Given the description of an element on the screen output the (x, y) to click on. 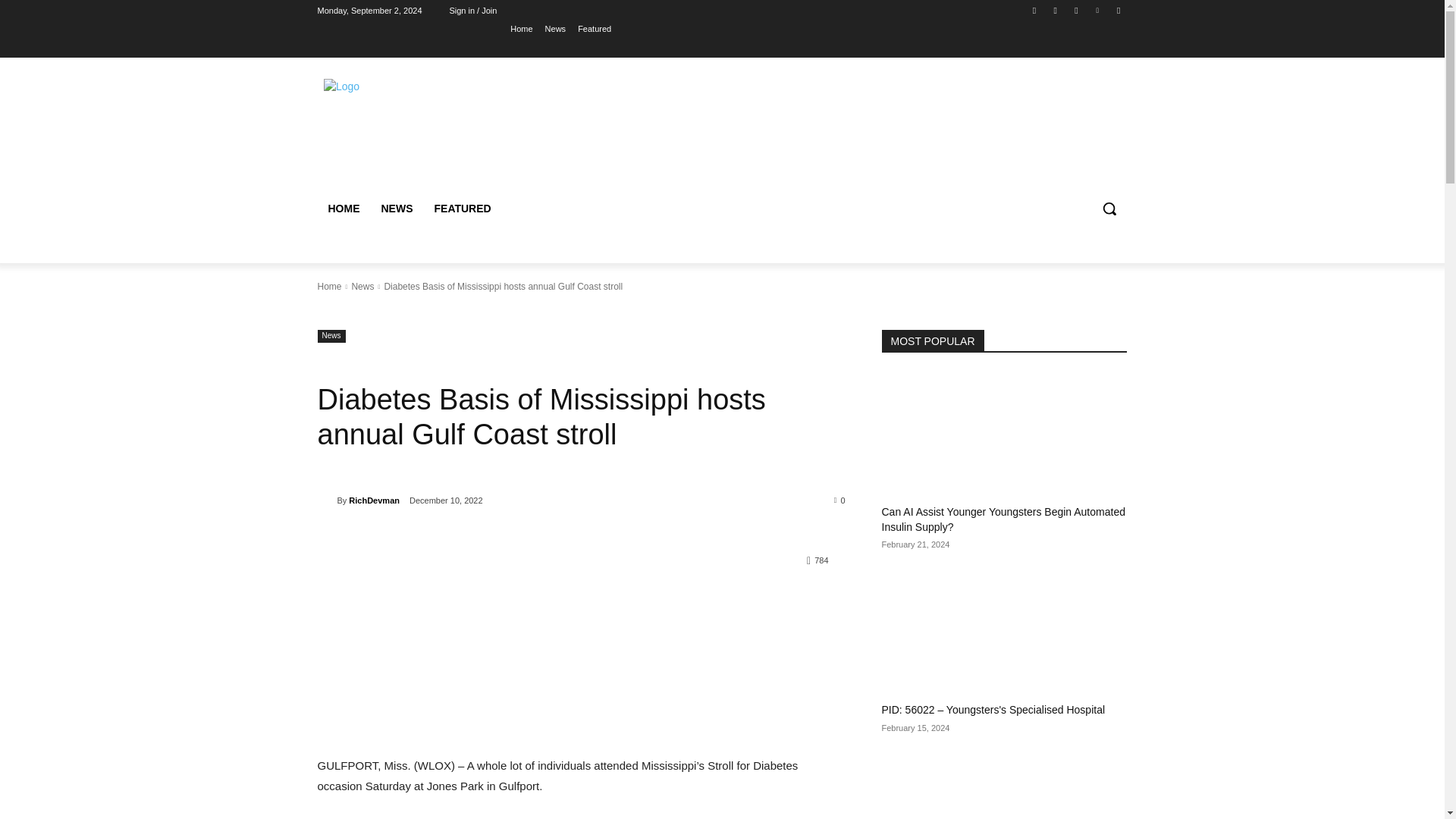
Featured (594, 28)
Facebook (1034, 9)
Home (328, 286)
FEATURED (461, 208)
View all posts in News (362, 286)
News (362, 286)
Home (521, 28)
HOME (343, 208)
RichDevman (326, 500)
Twitter (1075, 9)
